Given the description of an element on the screen output the (x, y) to click on. 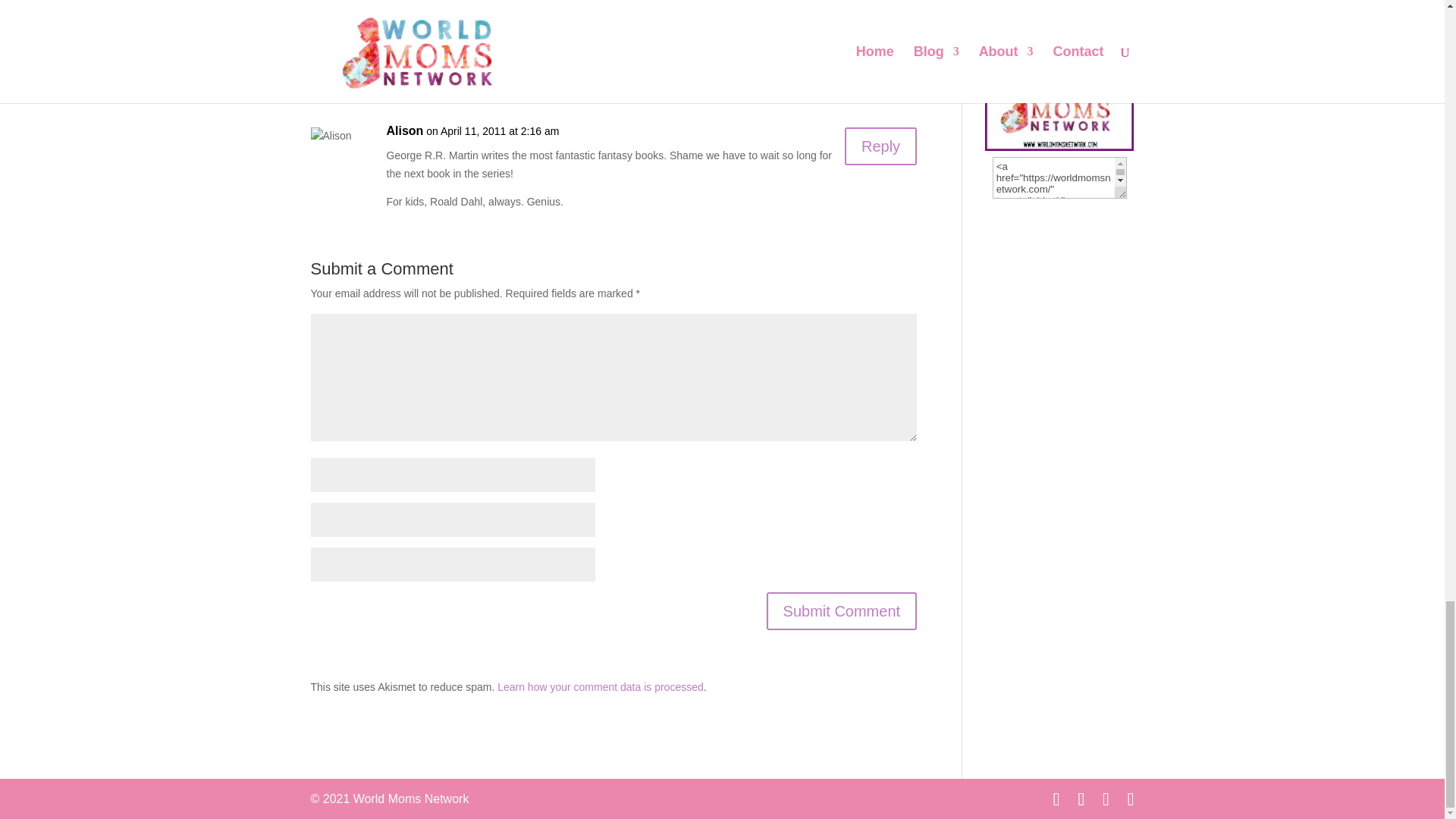
Submit Comment (842, 610)
